Given the description of an element on the screen output the (x, y) to click on. 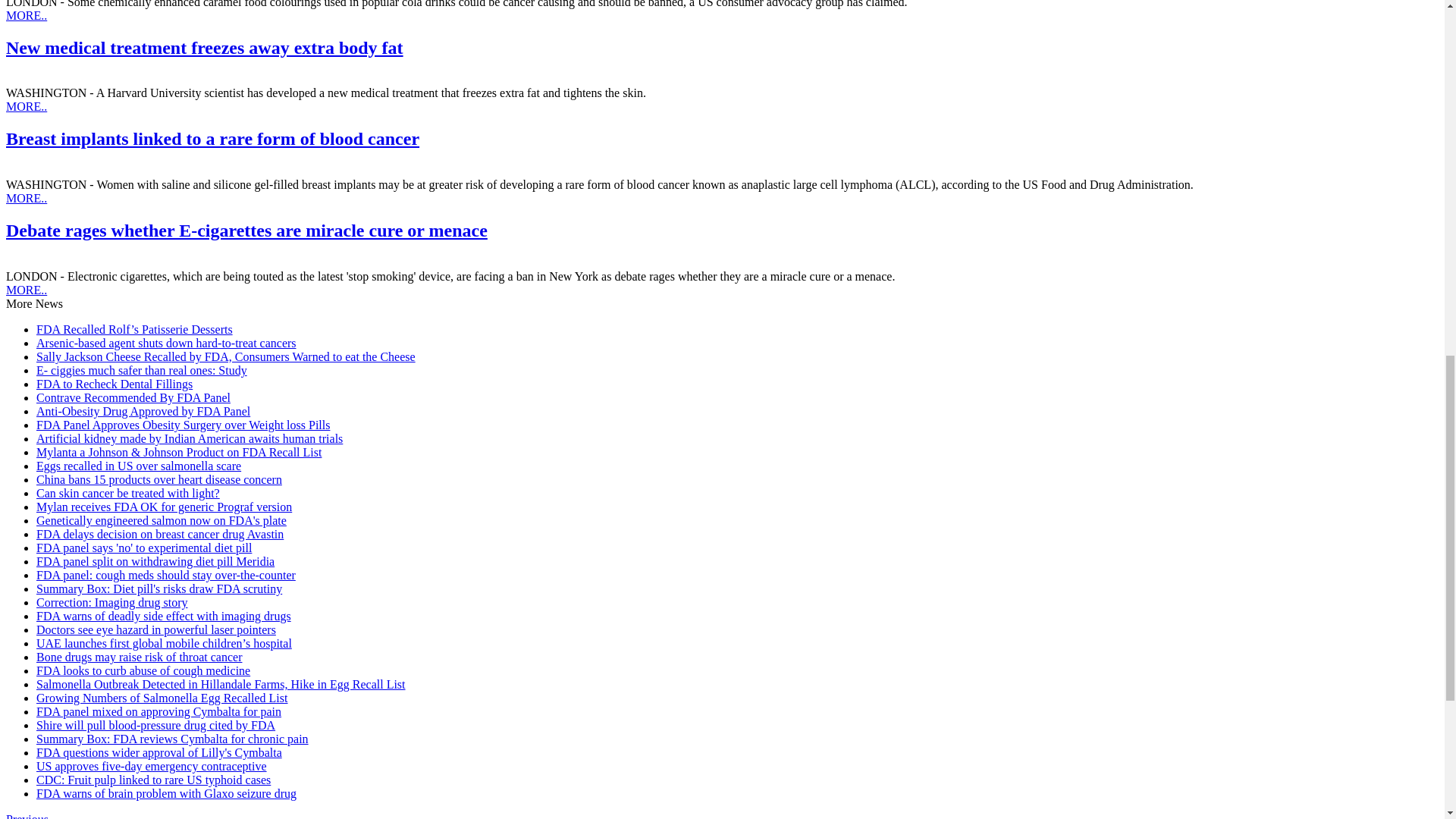
MORE.. (25, 15)
New medical treatment freezes away extra body fat (204, 47)
